Given the description of an element on the screen output the (x, y) to click on. 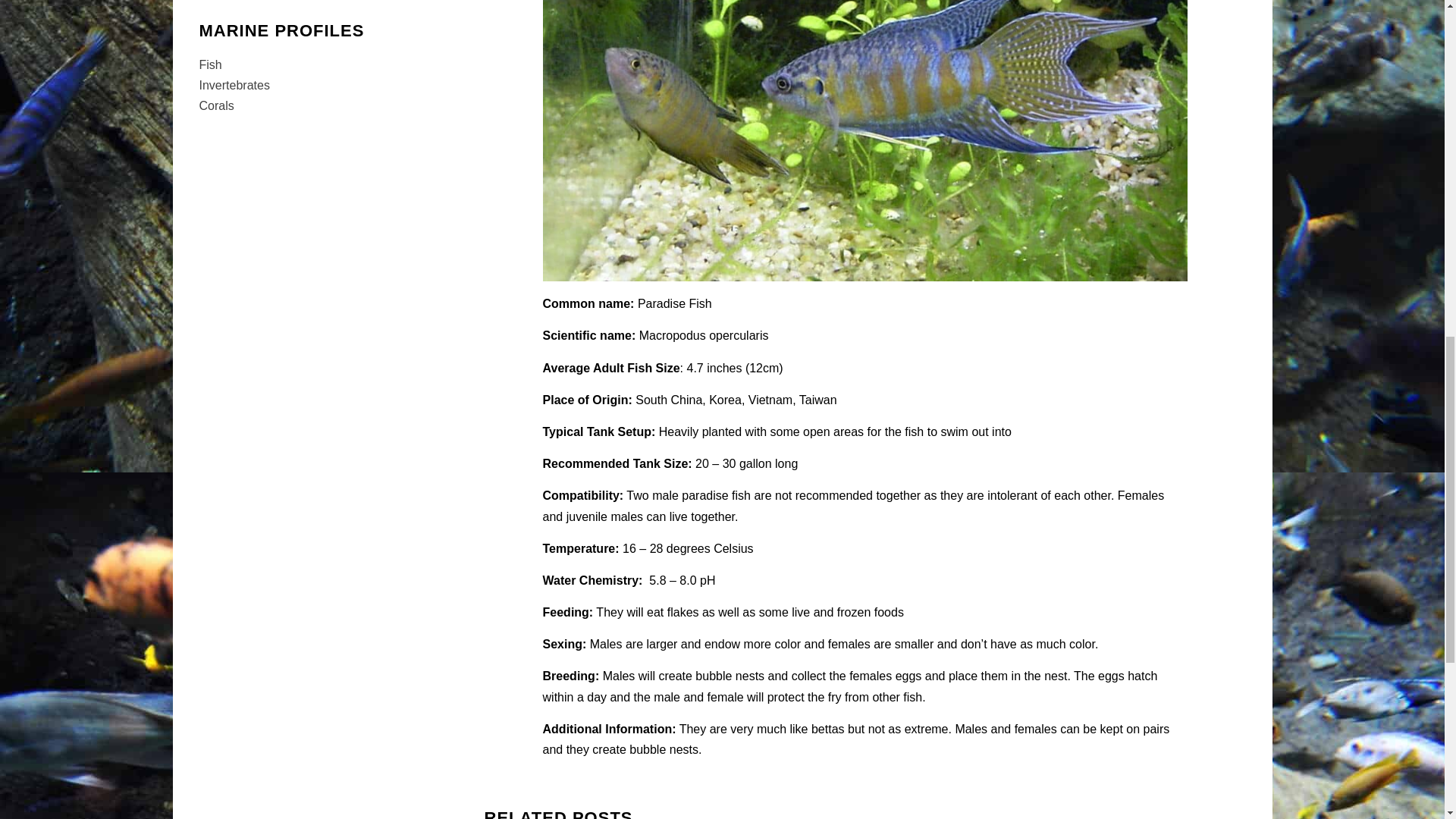
Corals (215, 105)
Fish (209, 64)
Invertebrates (233, 84)
